Given the description of an element on the screen output the (x, y) to click on. 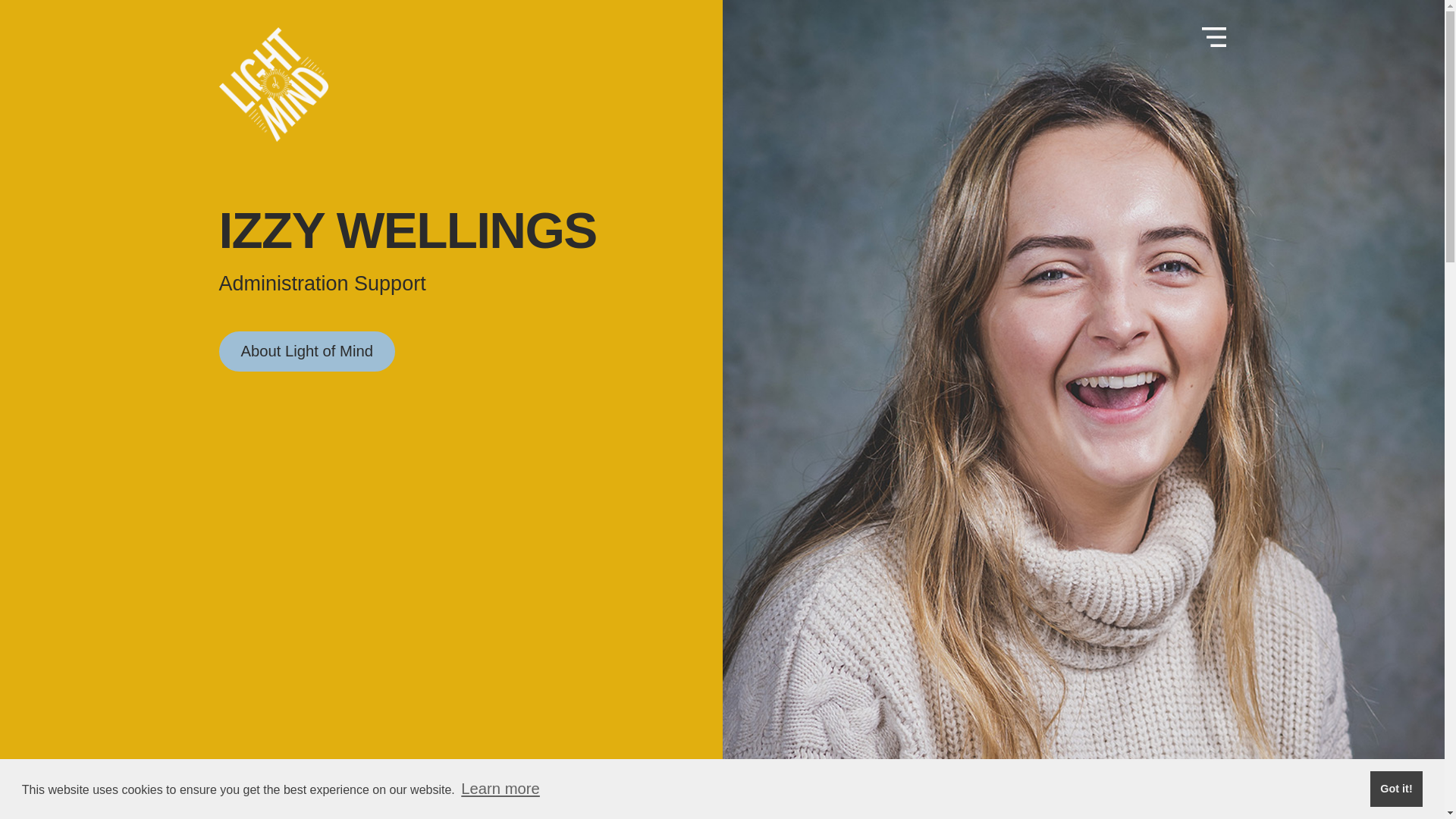
Learn more (500, 788)
About Light of Mind (306, 350)
Got it! (1396, 788)
